Given the description of an element on the screen output the (x, y) to click on. 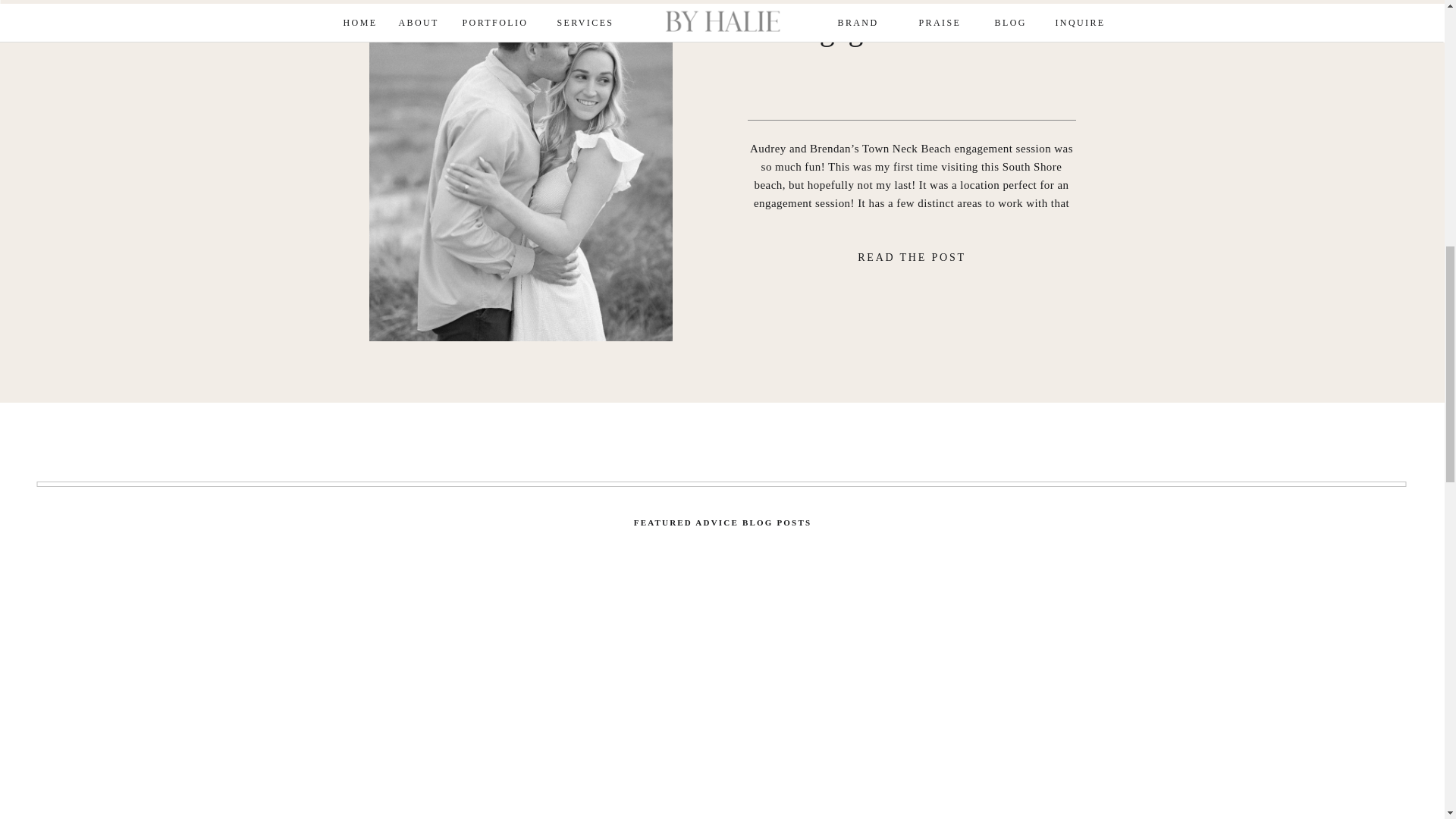
Town Neck Beach Engagement Session (912, 261)
READ THE POST (912, 261)
Town Neck Beach Engagement Session (519, 170)
Town Neck Beach Engagement Session (911, 23)
